Given the description of an element on the screen output the (x, y) to click on. 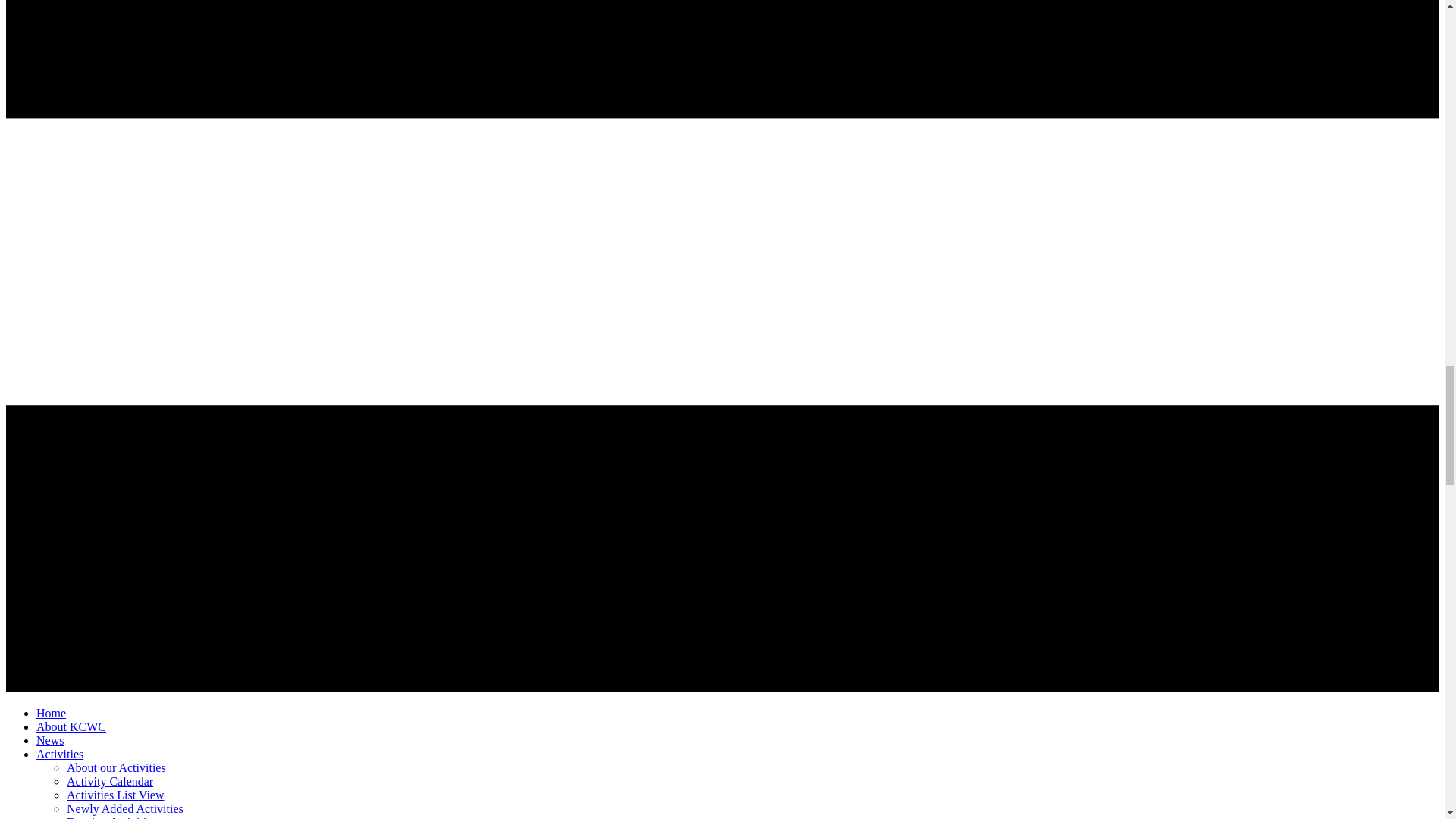
About our Activities (115, 767)
Newly Added Activities (124, 808)
About KCWC (71, 726)
Evening Activities (111, 817)
News (50, 739)
Activities List View (115, 794)
Activity Calendar (109, 780)
Home (50, 712)
Activities (59, 753)
